Given the description of an element on the screen output the (x, y) to click on. 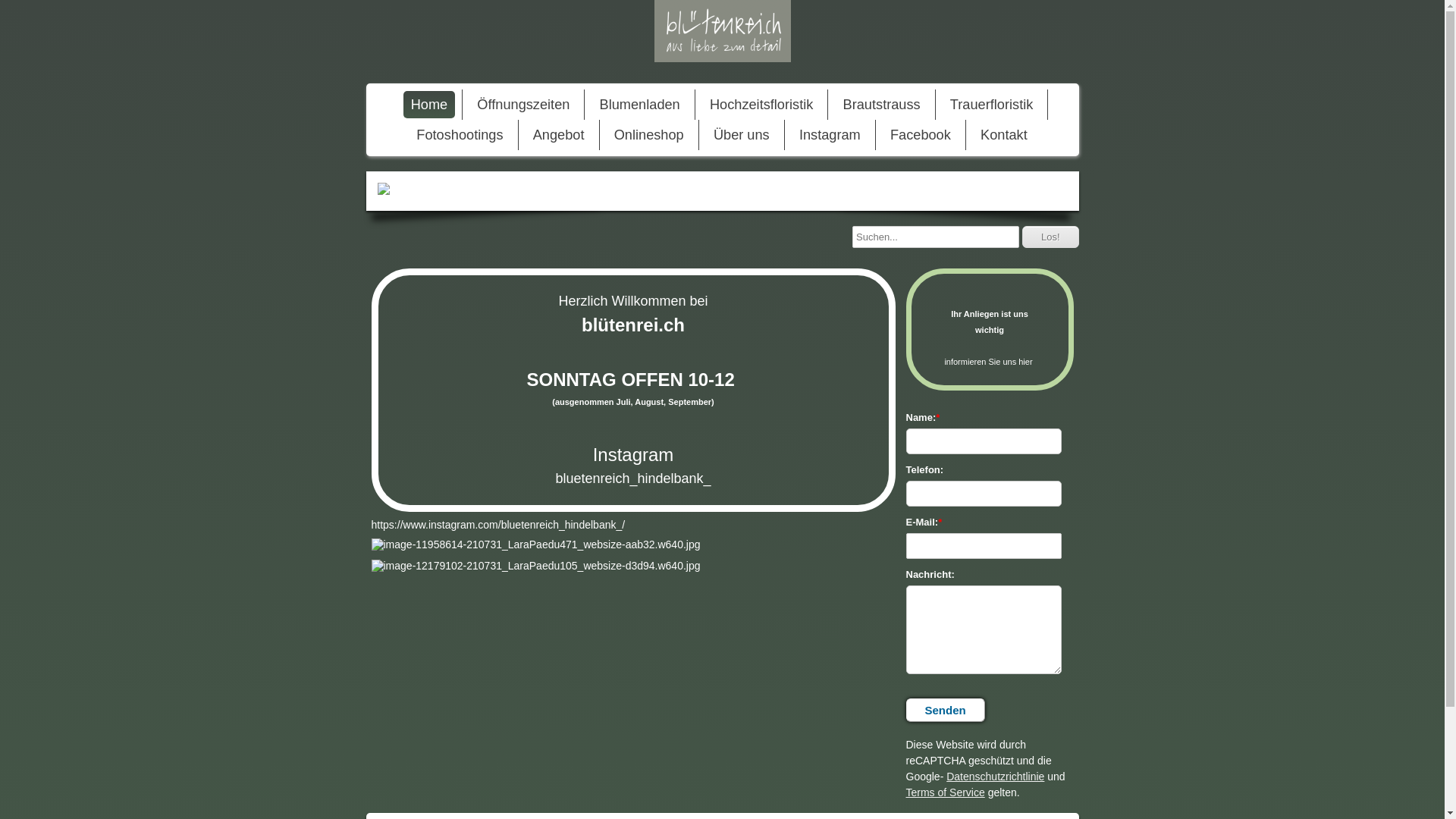
Fotoshootings Element type: text (459, 134)
Facebook Element type: text (920, 134)
Kontakt Element type: text (1003, 134)
Instagram Element type: text (829, 134)
Brautstrauss Element type: text (881, 104)
Hochzeitsfloristik Element type: text (761, 104)
Terms of Service Element type: text (944, 792)
Trauerfloristik Element type: text (991, 104)
Los! Element type: text (1050, 236)
Datenschutzrichtlinie Element type: text (995, 776)
Blumenladen Element type: text (639, 104)
Angebot Element type: text (558, 134)
Onlineshop Element type: text (648, 134)
Senden Element type: text (944, 709)
Home Element type: text (429, 104)
